Given the description of an element on the screen output the (x, y) to click on. 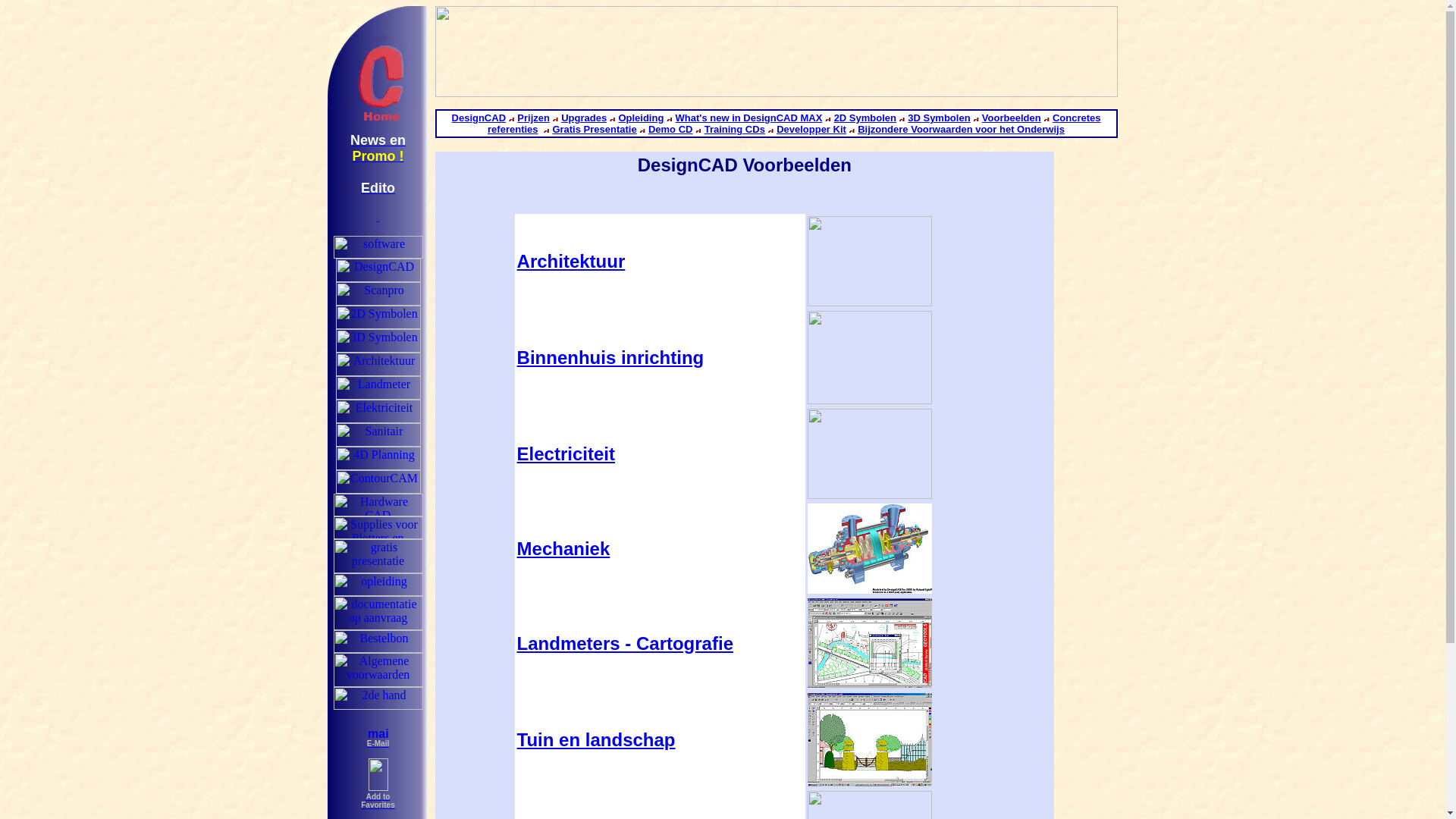
3D Symbolen Element type: text (938, 117)
DesignCAD Element type: text (478, 117)
Landmeters - Cartografie Element type: text (625, 642)
Opleiding Element type: text (640, 117)
Training CDs Element type: text (734, 128)
Architektuur Element type: text (571, 260)
Bijzondere Voorwaarden voor het Onderwijs Element type: text (960, 128)
Binnenhuis inrichting Element type: text (610, 357)
Edito Element type: text (377, 187)
2D Symbolen Element type: text (865, 117)
Add to
Favorites Element type: text (377, 794)
Concretes referenties Element type: text (793, 123)
E-Mail Element type: text (378, 738)
News en Promo ! Element type: text (377, 147)
Demo CD Element type: text (670, 128)
What's new in DesignCAD MAX Element type: text (748, 117)
Upgrades Element type: text (583, 117)
Gratis Presentatie Element type: text (594, 128)
Mechaniek Element type: text (563, 548)
Tuin en landschap Element type: text (596, 739)
Electriciteit Element type: text (566, 452)
  Element type: text (377, 216)
Prijzen Element type: text (533, 117)
Voorbeelden Element type: text (1011, 117)
Developper Kit Element type: text (811, 128)
